Given the description of an element on the screen output the (x, y) to click on. 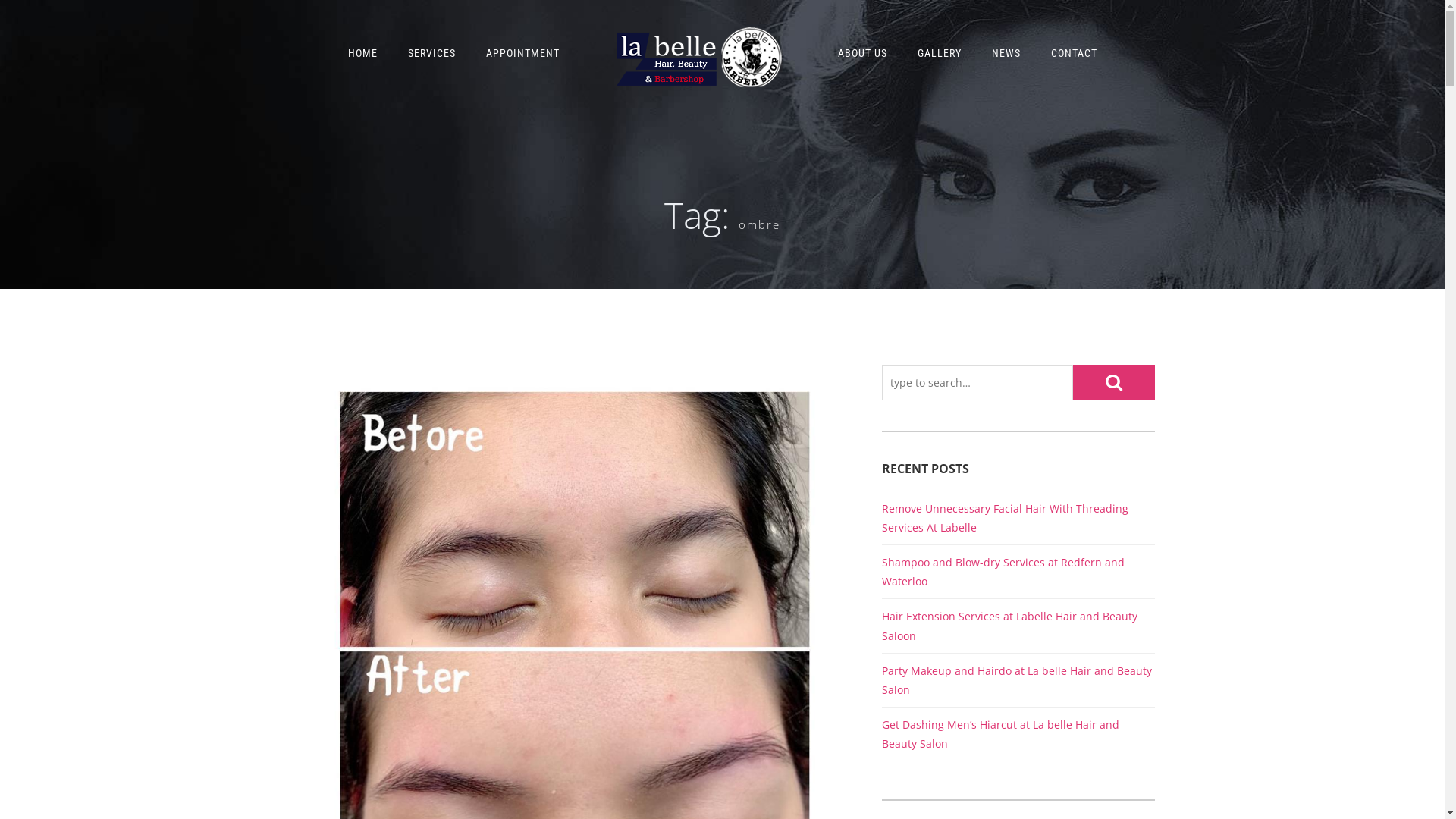
NEWS Element type: text (1005, 53)
ABOUT US Element type: text (861, 53)
Party Makeup and Hairdo at La belle Hair and Beauty Salon Element type: text (1016, 679)
HOME Element type: text (362, 53)
GALLERY Element type: text (939, 53)
CONTACT Element type: text (1073, 53)
APPOINTMENT Element type: text (522, 53)
Hair Extension Services at Labelle Hair and Beauty Saloon Element type: text (1008, 625)
Shampoo and Blow-dry Services at Redfern and Waterloo Element type: text (1002, 571)
SERVICES Element type: text (431, 53)
